Given the description of an element on the screen output the (x, y) to click on. 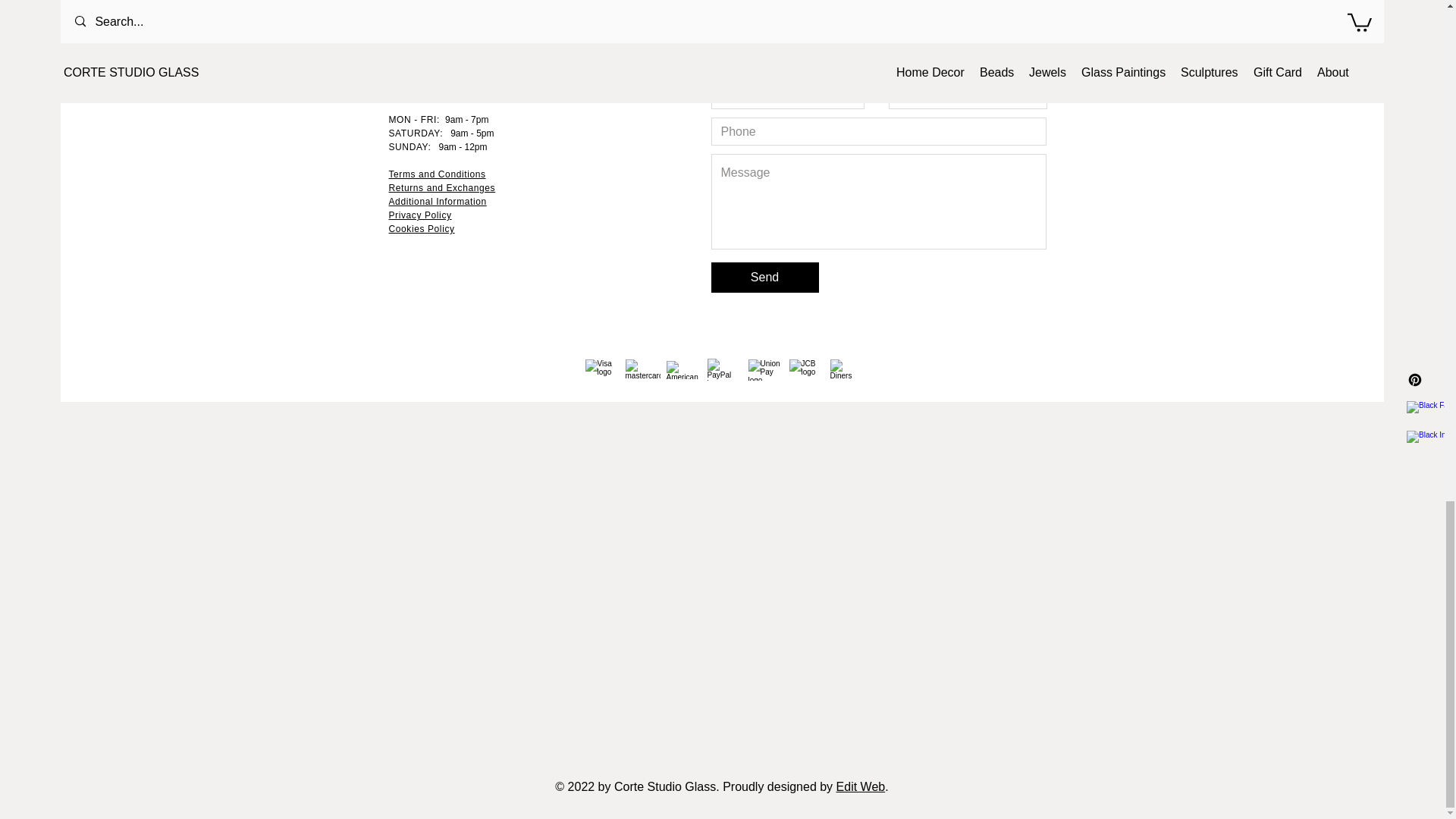
Terms and Conditions (436, 173)
Additional Information (437, 201)
Cookies Policy (421, 228)
Returns and Exchanges (441, 187)
Privacy Policy (419, 214)
Edit Web (860, 786)
Send (764, 277)
